Given the description of an element on the screen output the (x, y) to click on. 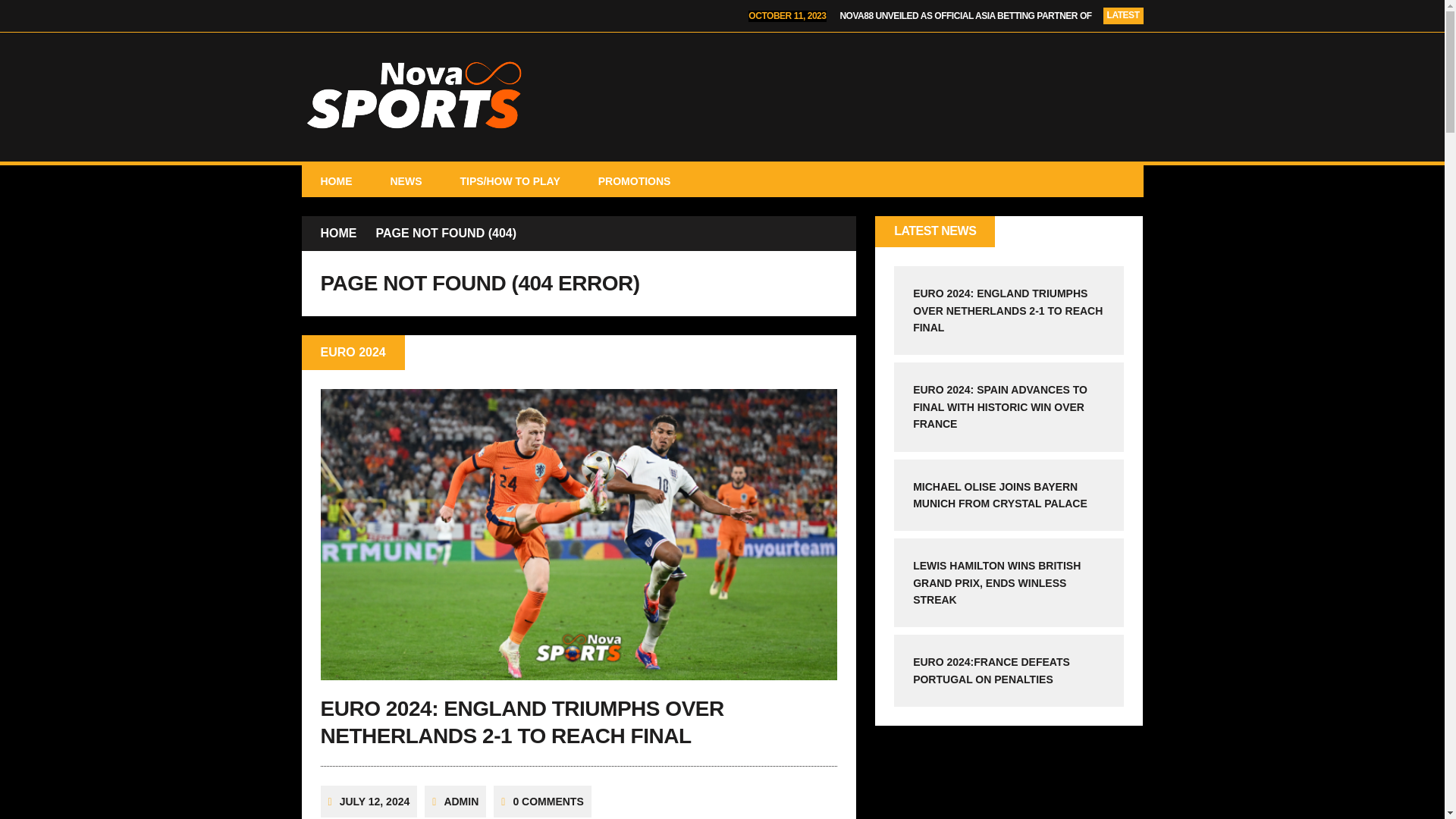
NOVA SPORTS NEWS (721, 96)
HOME (338, 233)
JULY 12, 2024 (374, 801)
HOME (336, 181)
ADMIN (461, 801)
NEWS (406, 181)
PROMOTIONS (634, 181)
